Given the description of an element on the screen output the (x, y) to click on. 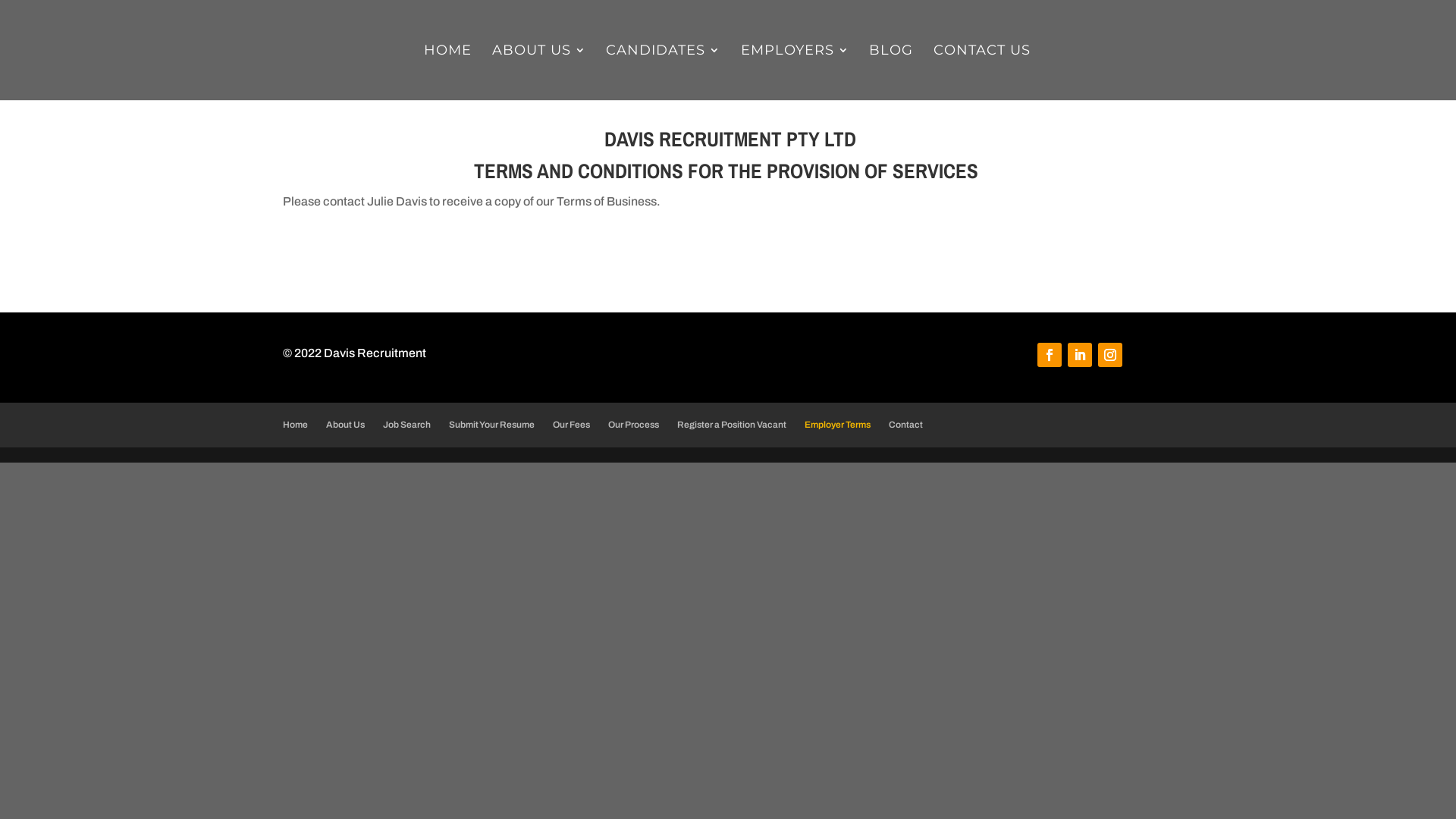
Our Process Element type: text (633, 424)
CONTACT US Element type: text (981, 72)
About Us Element type: text (345, 424)
Contact Element type: text (905, 424)
Follow on LinkedIn Element type: hover (1079, 354)
Our Fees Element type: text (570, 424)
CANDIDATES Element type: text (662, 72)
Follow on Facebook Element type: hover (1049, 354)
Home Element type: text (294, 424)
HOME Element type: text (447, 72)
EMPLOYERS Element type: text (794, 72)
Employer Terms Element type: text (837, 424)
Job Search Element type: text (406, 424)
ABOUT US Element type: text (539, 72)
Submit Your Resume Element type: text (491, 424)
BLOG Element type: text (891, 72)
Follow on Instagram Element type: hover (1110, 354)
Register a Position Vacant Element type: text (731, 424)
